Given the description of an element on the screen output the (x, y) to click on. 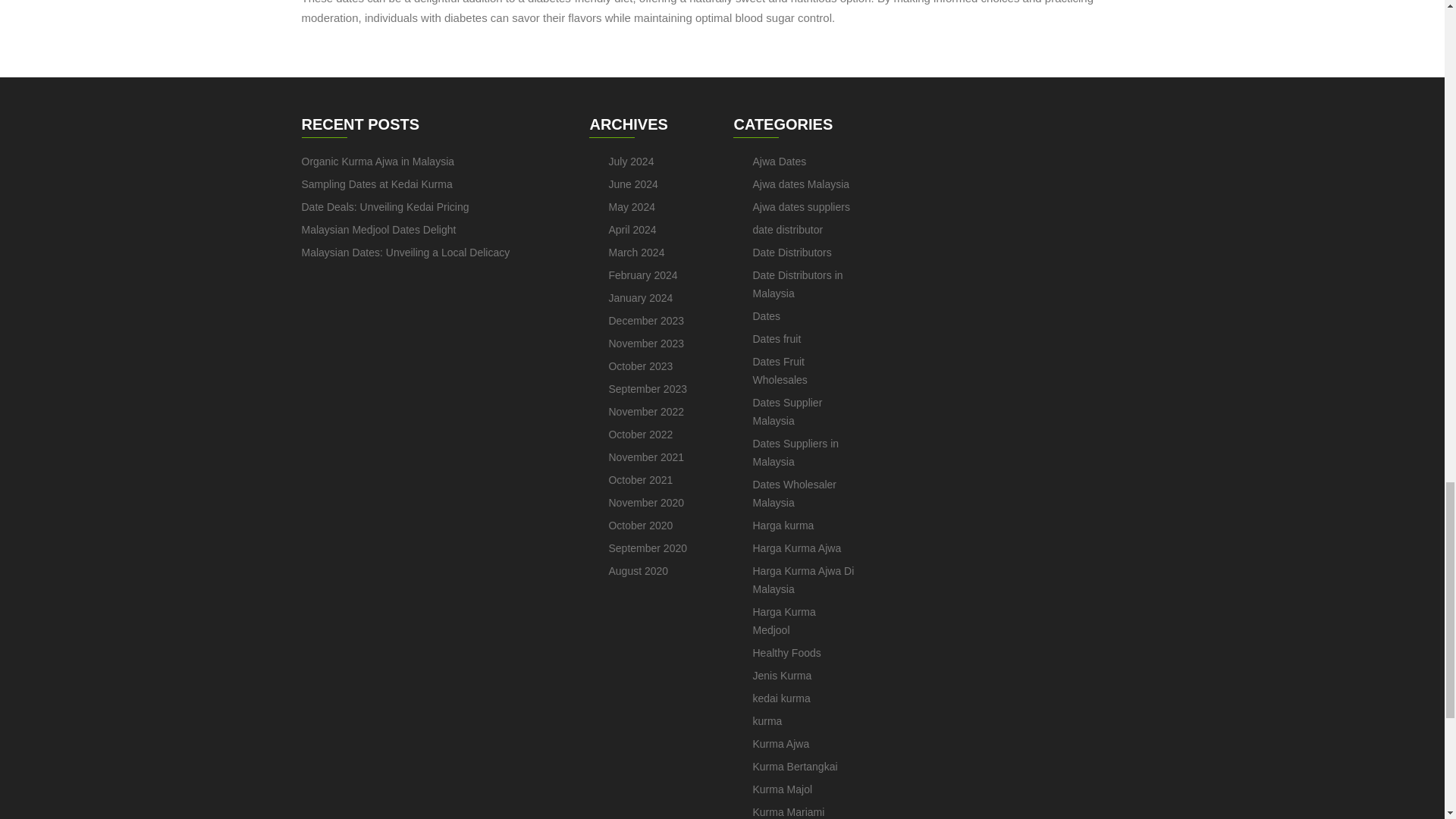
November 2023 (646, 343)
Dates Supplier Malaysia (787, 411)
September 2020 (647, 548)
Ajwa Dates (779, 161)
November 2020 (646, 502)
February 2024 (642, 275)
March 2024 (635, 252)
Sampling Dates at Kedai Kurma (376, 184)
Dates (766, 316)
October 2022 (640, 434)
